Given the description of an element on the screen output the (x, y) to click on. 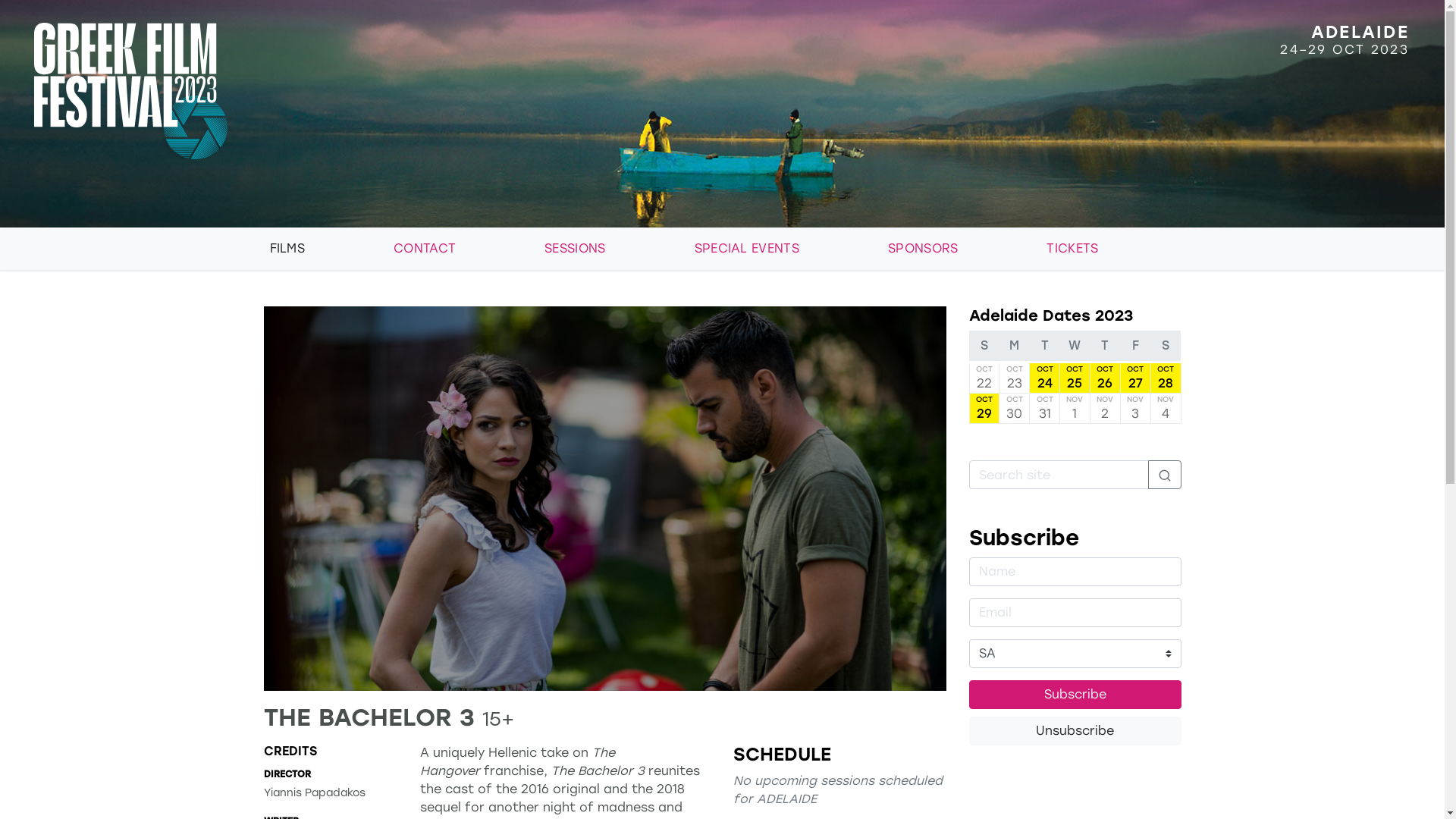
FILMS Element type: text (325, 248)
OCT
25 Element type: text (1074, 377)
OCT
28 Element type: text (1165, 377)
SESSIONS Element type: text (612, 248)
TICKETS Element type: text (1110, 248)
SPECIAL EVENTS Element type: text (784, 248)
OCT
27 Element type: text (1135, 377)
OCT
29 Element type: text (983, 408)
OCT
26 Element type: text (1105, 377)
greek film festival Element type: text (361, 91)
OCT
24 Element type: text (1044, 377)
2 TB3 Element type: hover (604, 498)
SPONSORS Element type: text (960, 248)
CONTACT Element type: text (462, 248)
